Given the description of an element on the screen output the (x, y) to click on. 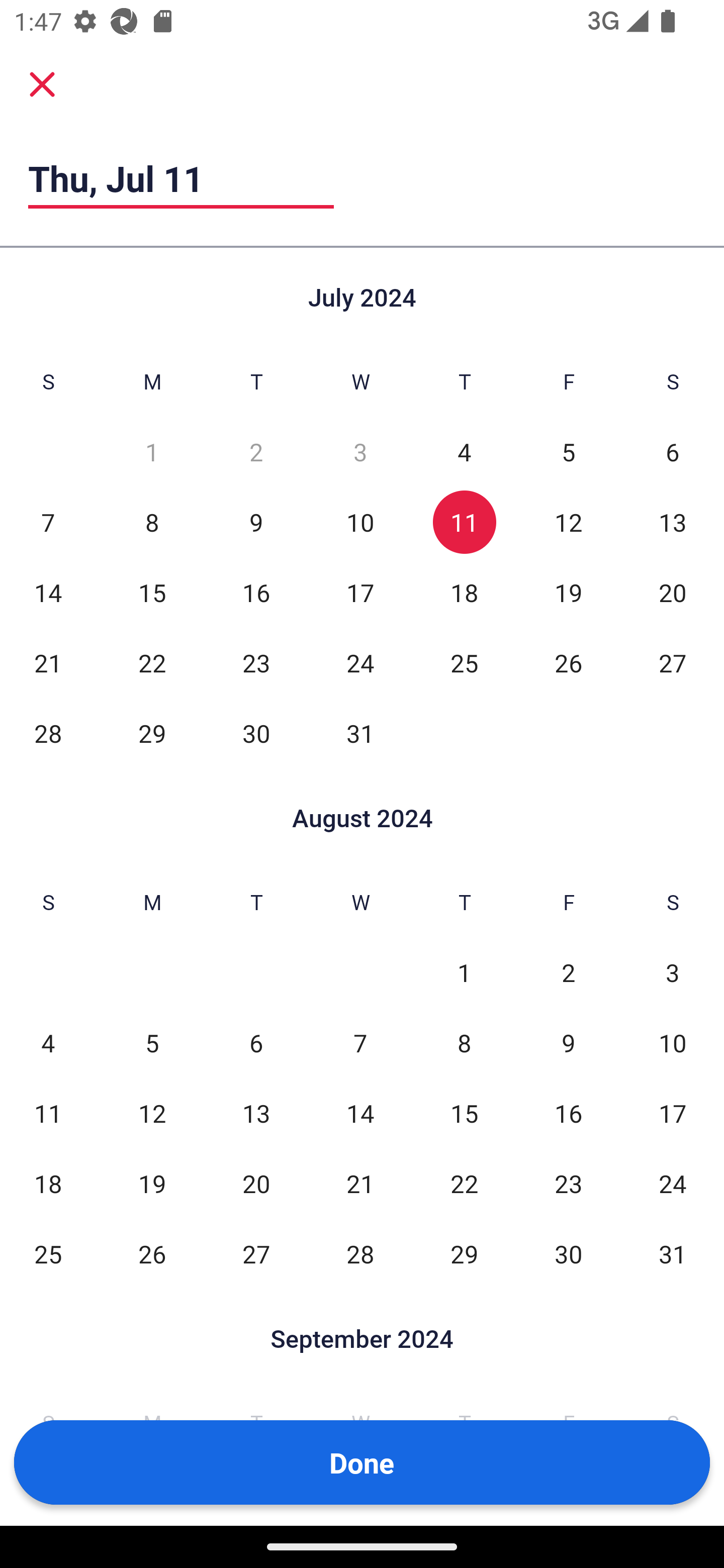
Cancel (42, 84)
Thu, Jul 11 (180, 178)
1 Mon, Jul 1, Not Selected (152, 452)
2 Tue, Jul 2, Not Selected (256, 452)
3 Wed, Jul 3, Not Selected (360, 452)
4 Thu, Jul 4, Not Selected (464, 452)
5 Fri, Jul 5, Not Selected (568, 452)
6 Sat, Jul 6, Not Selected (672, 452)
7 Sun, Jul 7, Not Selected (48, 521)
8 Mon, Jul 8, Not Selected (152, 521)
9 Tue, Jul 9, Not Selected (256, 521)
10 Wed, Jul 10, Not Selected (360, 521)
11 Thu, Jul 11, Selected (464, 521)
12 Fri, Jul 12, Not Selected (568, 521)
13 Sat, Jul 13, Not Selected (672, 521)
14 Sun, Jul 14, Not Selected (48, 591)
15 Mon, Jul 15, Not Selected (152, 591)
16 Tue, Jul 16, Not Selected (256, 591)
17 Wed, Jul 17, Not Selected (360, 591)
18 Thu, Jul 18, Not Selected (464, 591)
19 Fri, Jul 19, Not Selected (568, 591)
20 Sat, Jul 20, Not Selected (672, 591)
21 Sun, Jul 21, Not Selected (48, 662)
22 Mon, Jul 22, Not Selected (152, 662)
23 Tue, Jul 23, Not Selected (256, 662)
24 Wed, Jul 24, Not Selected (360, 662)
25 Thu, Jul 25, Not Selected (464, 662)
26 Fri, Jul 26, Not Selected (568, 662)
27 Sat, Jul 27, Not Selected (672, 662)
28 Sun, Jul 28, Not Selected (48, 732)
29 Mon, Jul 29, Not Selected (152, 732)
30 Tue, Jul 30, Not Selected (256, 732)
31 Wed, Jul 31, Not Selected (360, 732)
1 Thu, Aug 1, Not Selected (464, 972)
2 Fri, Aug 2, Not Selected (568, 972)
3 Sat, Aug 3, Not Selected (672, 972)
4 Sun, Aug 4, Not Selected (48, 1043)
5 Mon, Aug 5, Not Selected (152, 1043)
6 Tue, Aug 6, Not Selected (256, 1043)
7 Wed, Aug 7, Not Selected (360, 1043)
8 Thu, Aug 8, Not Selected (464, 1043)
9 Fri, Aug 9, Not Selected (568, 1043)
10 Sat, Aug 10, Not Selected (672, 1043)
11 Sun, Aug 11, Not Selected (48, 1112)
12 Mon, Aug 12, Not Selected (152, 1112)
13 Tue, Aug 13, Not Selected (256, 1112)
14 Wed, Aug 14, Not Selected (360, 1112)
15 Thu, Aug 15, Not Selected (464, 1112)
16 Fri, Aug 16, Not Selected (568, 1112)
17 Sat, Aug 17, Not Selected (672, 1112)
18 Sun, Aug 18, Not Selected (48, 1182)
19 Mon, Aug 19, Not Selected (152, 1182)
20 Tue, Aug 20, Not Selected (256, 1182)
21 Wed, Aug 21, Not Selected (360, 1182)
22 Thu, Aug 22, Not Selected (464, 1182)
23 Fri, Aug 23, Not Selected (568, 1182)
24 Sat, Aug 24, Not Selected (672, 1182)
25 Sun, Aug 25, Not Selected (48, 1253)
26 Mon, Aug 26, Not Selected (152, 1253)
27 Tue, Aug 27, Not Selected (256, 1253)
28 Wed, Aug 28, Not Selected (360, 1253)
29 Thu, Aug 29, Not Selected (464, 1253)
30 Fri, Aug 30, Not Selected (568, 1253)
31 Sat, Aug 31, Not Selected (672, 1253)
Done Button Done (361, 1462)
